Given the description of an element on the screen output the (x, y) to click on. 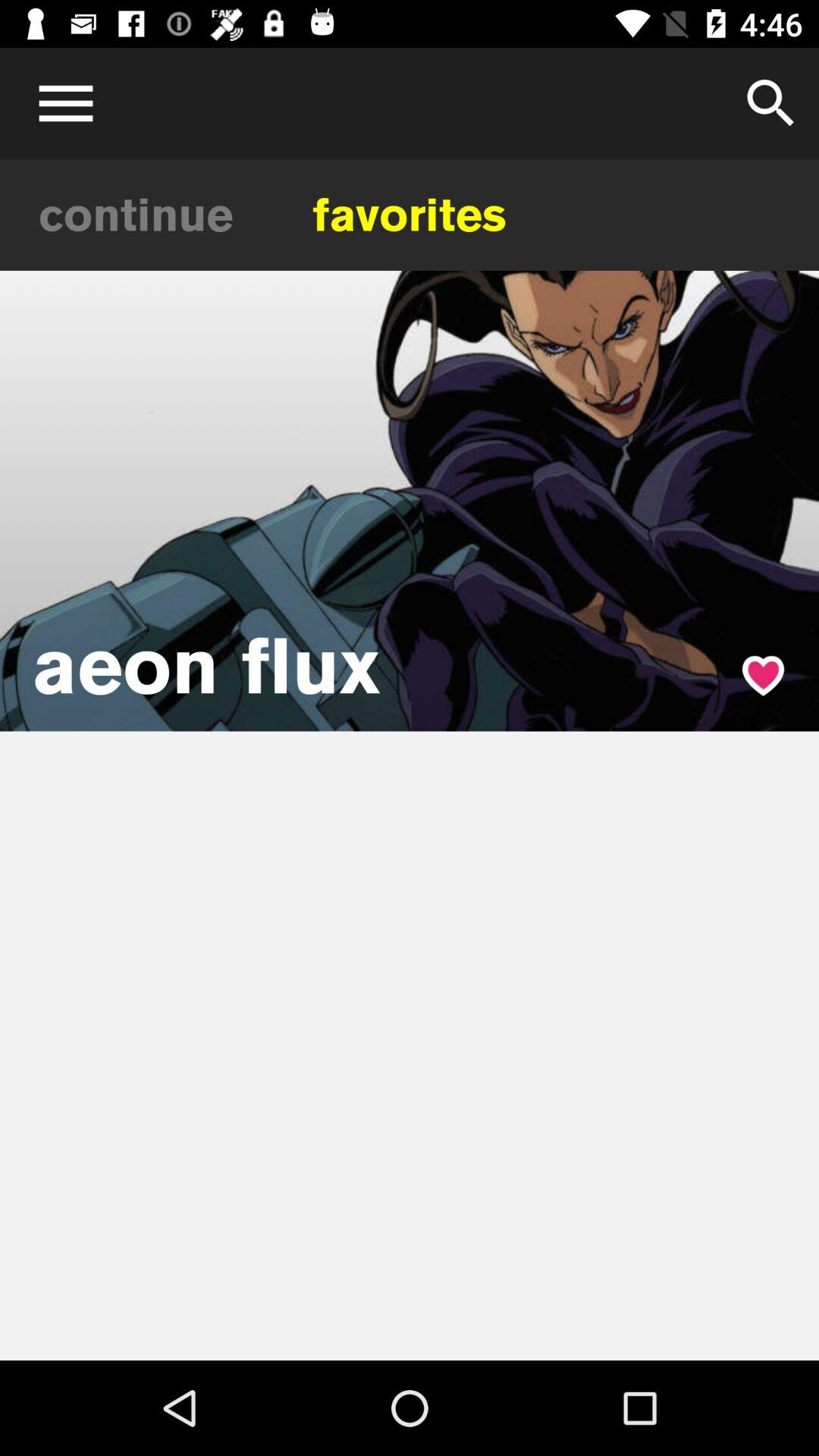
open menu (60, 103)
